Given the description of an element on the screen output the (x, y) to click on. 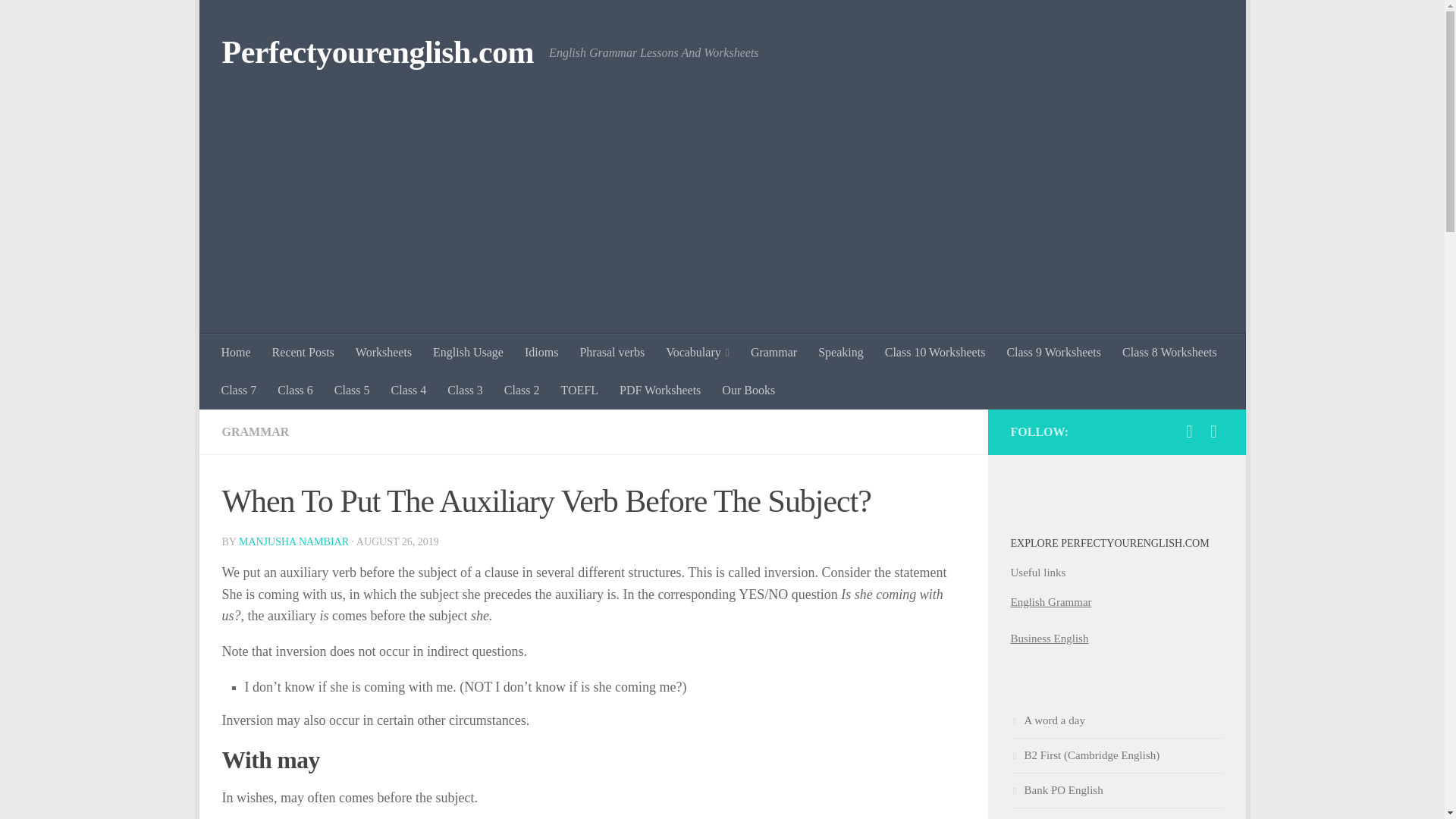
Idioms (541, 352)
Follow us on Facebook (1188, 431)
Vocabulary (697, 352)
Phrasal verbs (612, 352)
Worksheets (383, 352)
English Usage (467, 352)
Speaking (841, 352)
Home (236, 352)
Class 10 Worksheets (935, 352)
Skip to content (258, 20)
Posts by Manjusha Nambiar (293, 541)
Perfectyourenglish.com (377, 53)
Recent Posts (303, 352)
Grammar (773, 352)
